Given the description of an element on the screen output the (x, y) to click on. 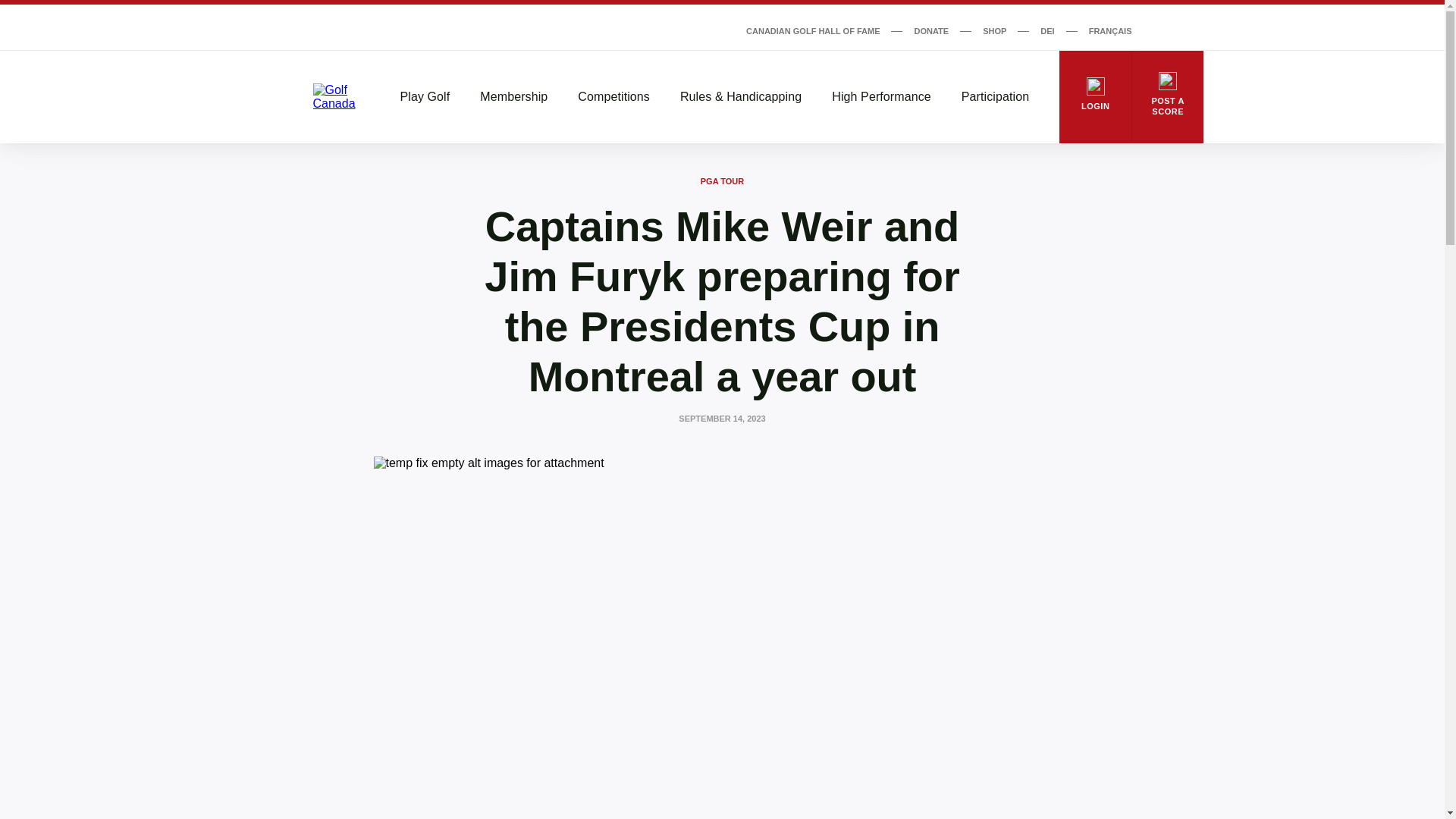
SHOP (994, 30)
Play Golf (425, 96)
Membership (513, 96)
DONATE (931, 30)
DEI (1047, 30)
High Performance (881, 96)
CANADIAN GOLF HALL OF FAME (812, 30)
Competitions (613, 96)
Participation (994, 96)
